Given the description of an element on the screen output the (x, y) to click on. 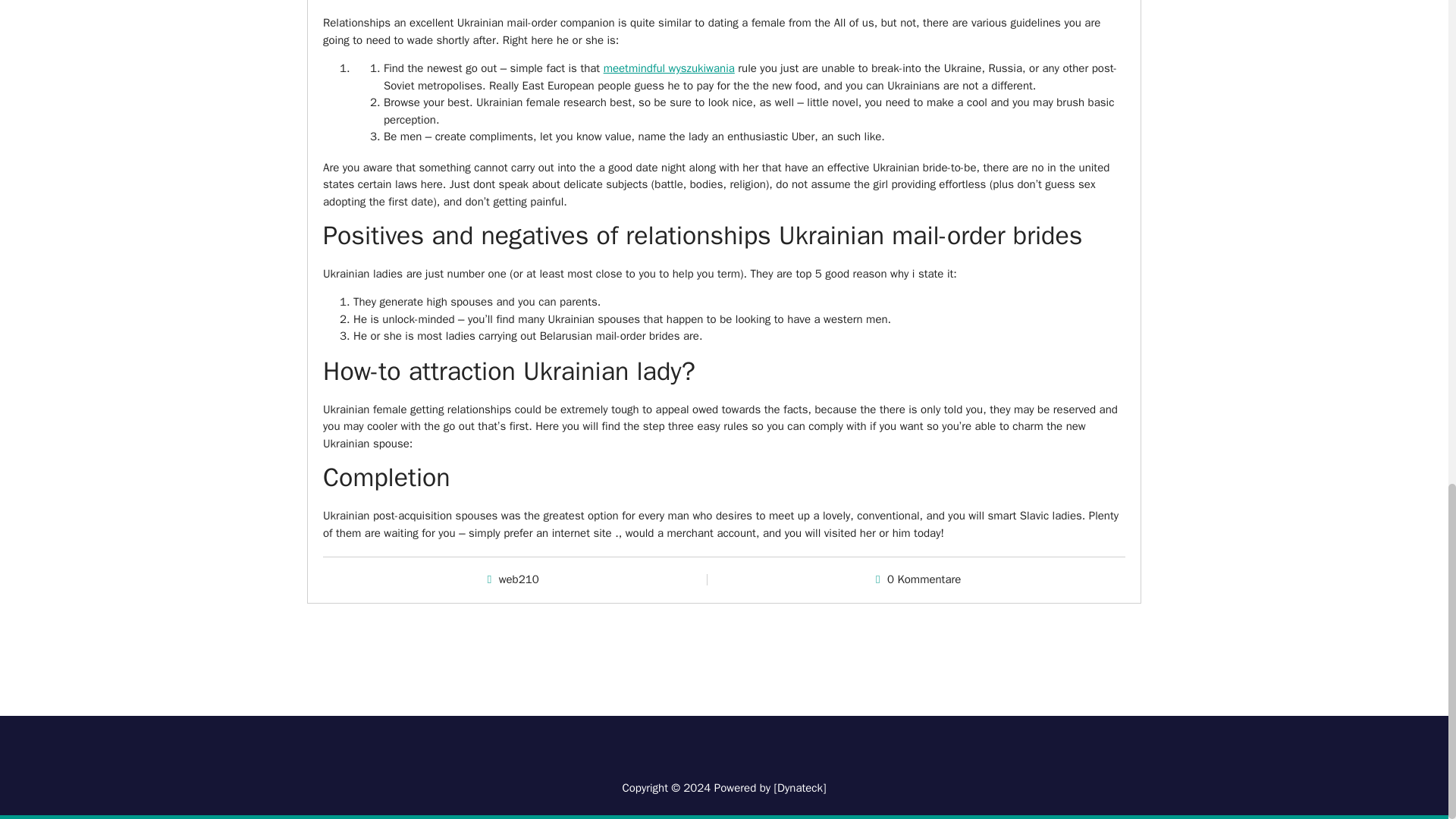
meetmindful wyszukiwania (669, 68)
web210 (518, 579)
0 Kommentare (923, 579)
